Given the description of an element on the screen output the (x, y) to click on. 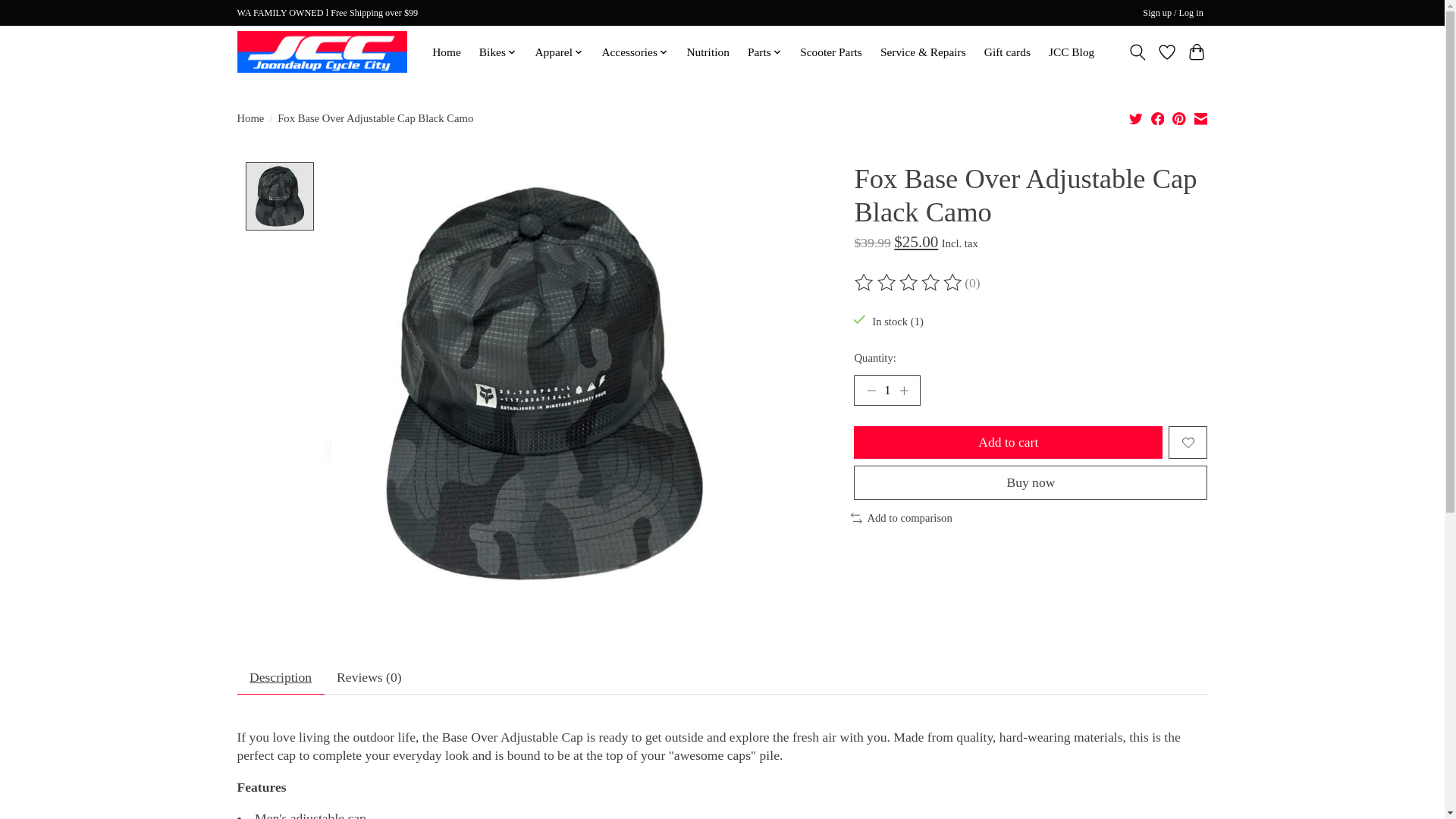
Apparel (558, 52)
Joondalup Cycle City WA Owned (321, 51)
Home (445, 52)
1 (886, 390)
Share on Facebook (1157, 118)
Share on Pinterest (1178, 118)
Share by Email (1200, 118)
Share on Twitter (1135, 118)
My account (1173, 13)
Bikes (498, 52)
